Given the description of an element on the screen output the (x, y) to click on. 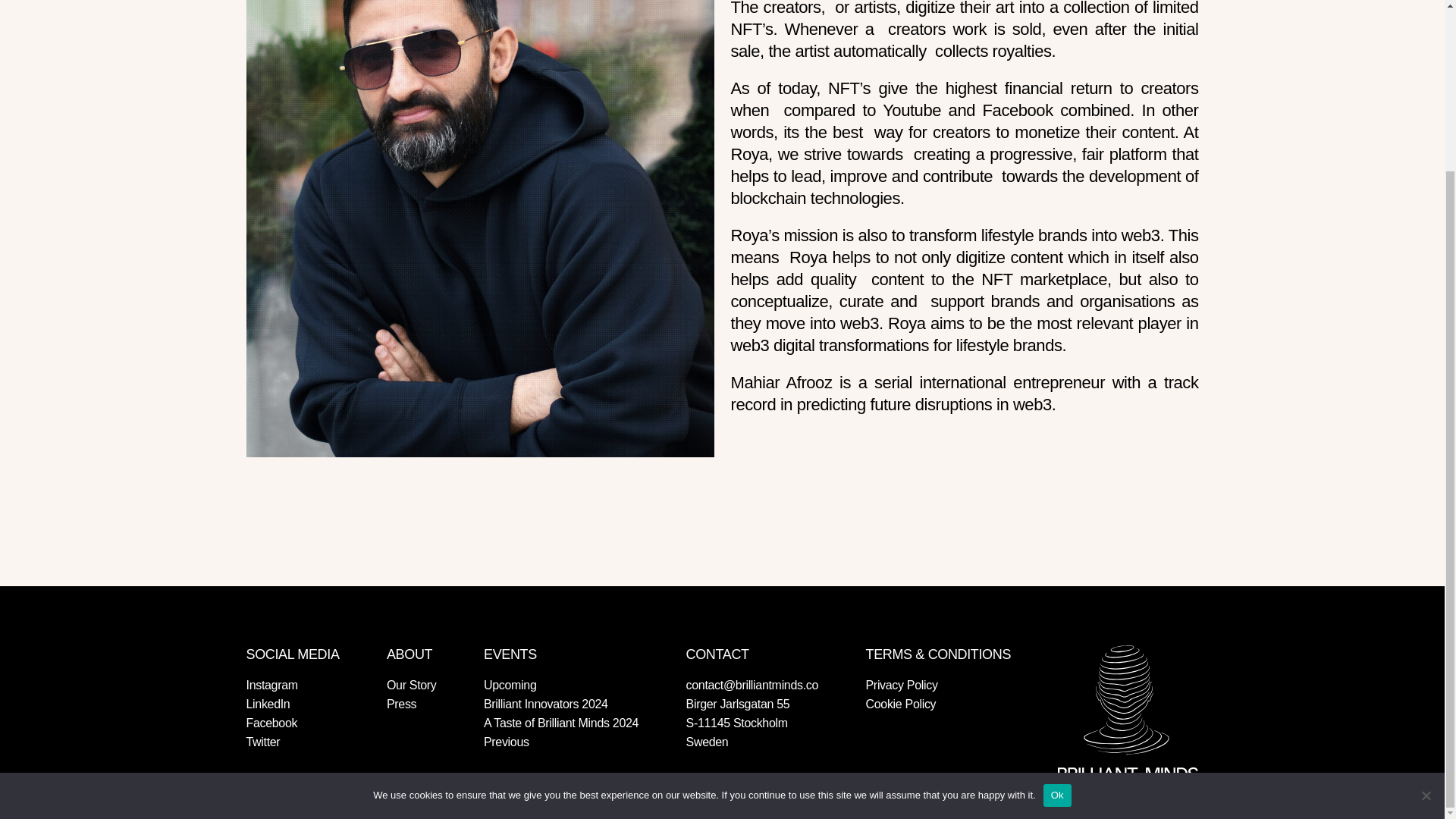
Cookie Policy (901, 703)
Our Story (411, 684)
Previous (506, 741)
Twitter (262, 741)
Ok (1057, 589)
Brilliant Innovators 2024 (545, 703)
Press (401, 703)
A Taste of Brilliant Minds 2024 (561, 722)
Privacy Policy (901, 684)
Instagram (271, 684)
